Given the description of an element on the screen output the (x, y) to click on. 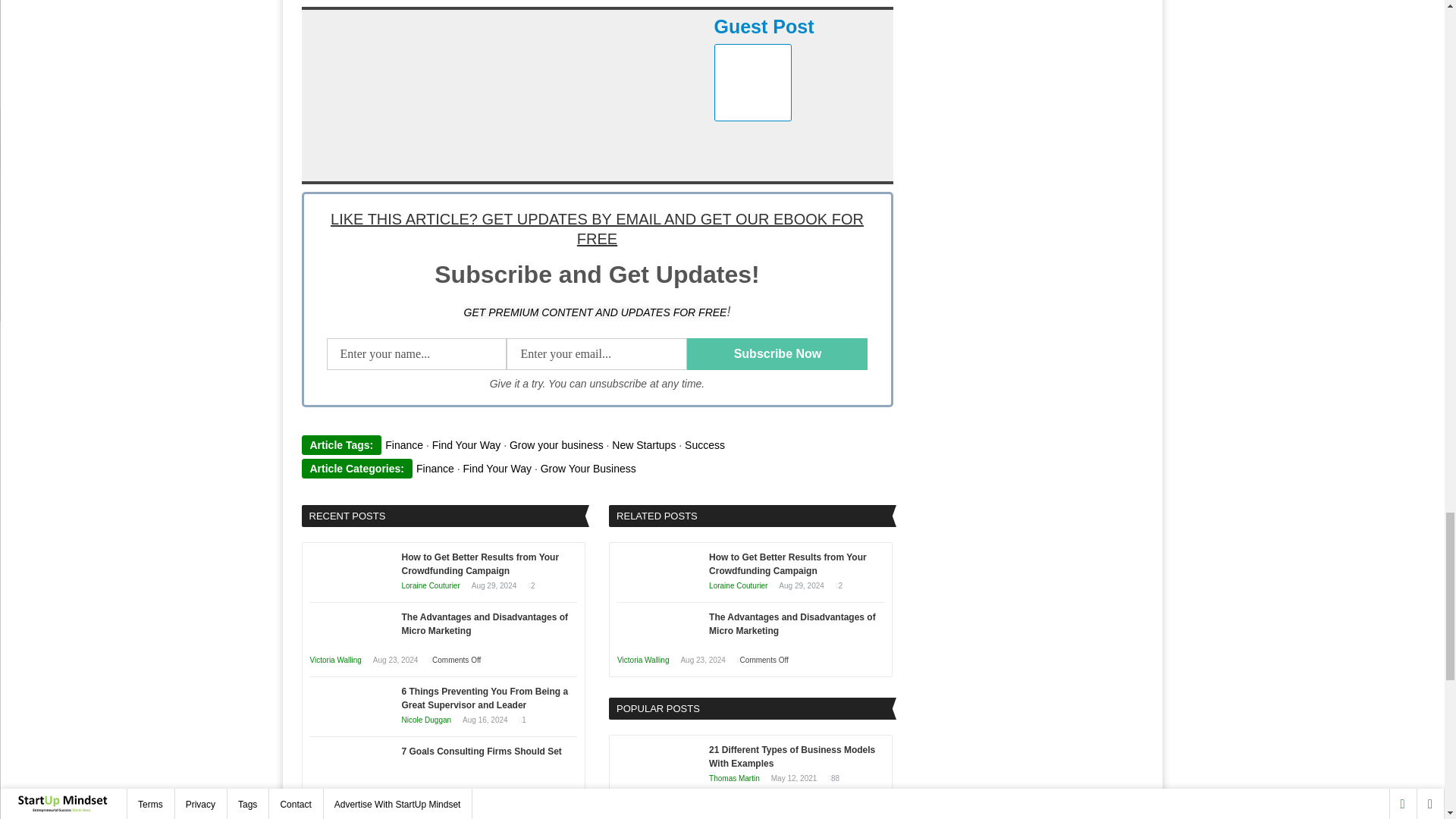
Posts by Loraine Couturier (430, 585)
Posts by Victoria Walling (334, 794)
Posts by Loraine Couturier (738, 585)
Guest Post (763, 25)
Grow your business (556, 444)
Guest Post (763, 25)
Posts by Thomas Martin (734, 777)
Success (704, 444)
Posts by Victoria Walling (642, 660)
Subscribe Now (777, 354)
